Given the description of an element on the screen output the (x, y) to click on. 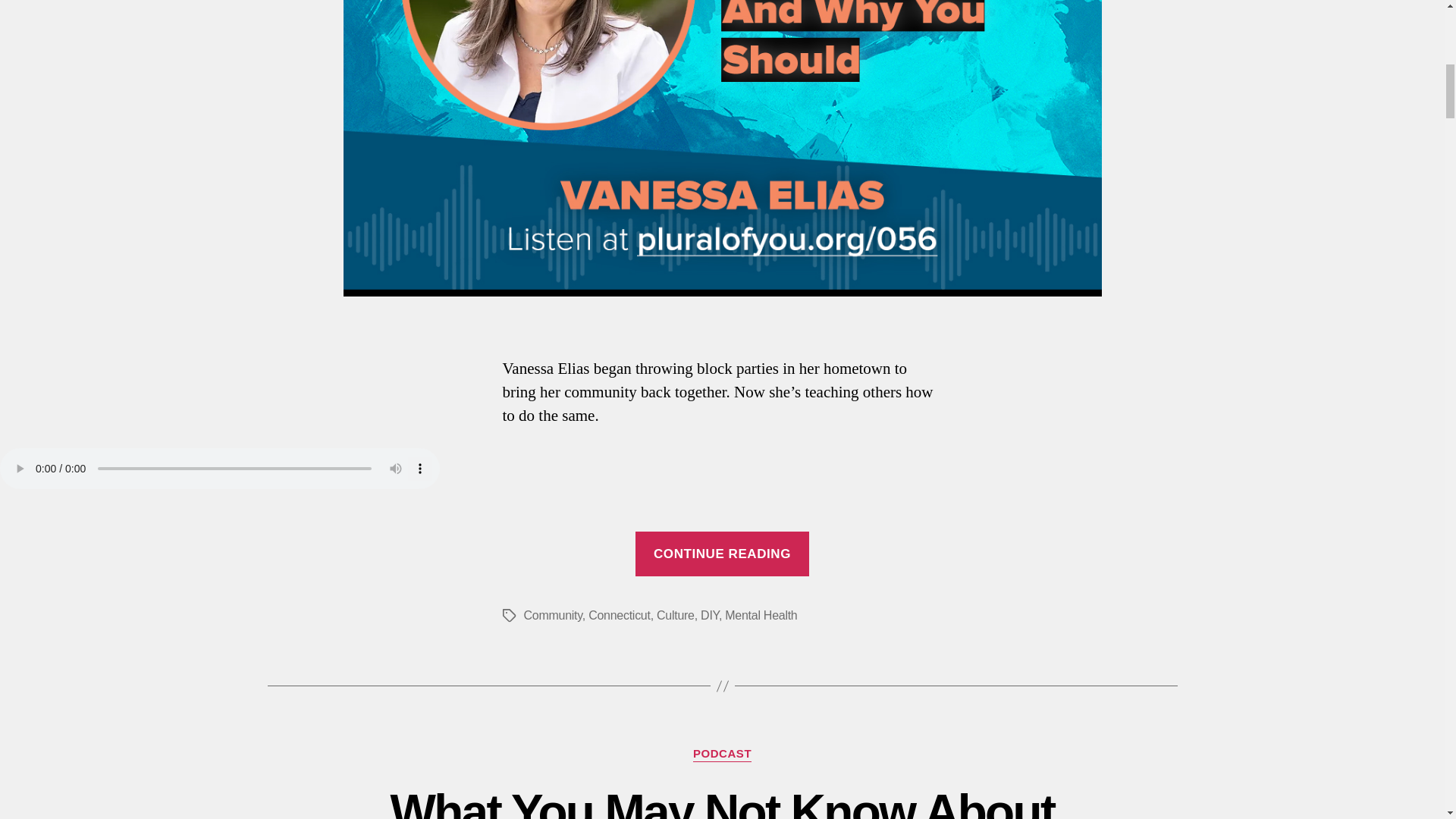
Mental Health (760, 615)
DIY (709, 615)
Community (551, 615)
Culture (675, 615)
PODCAST (722, 754)
Connecticut (619, 615)
